Given the description of an element on the screen output the (x, y) to click on. 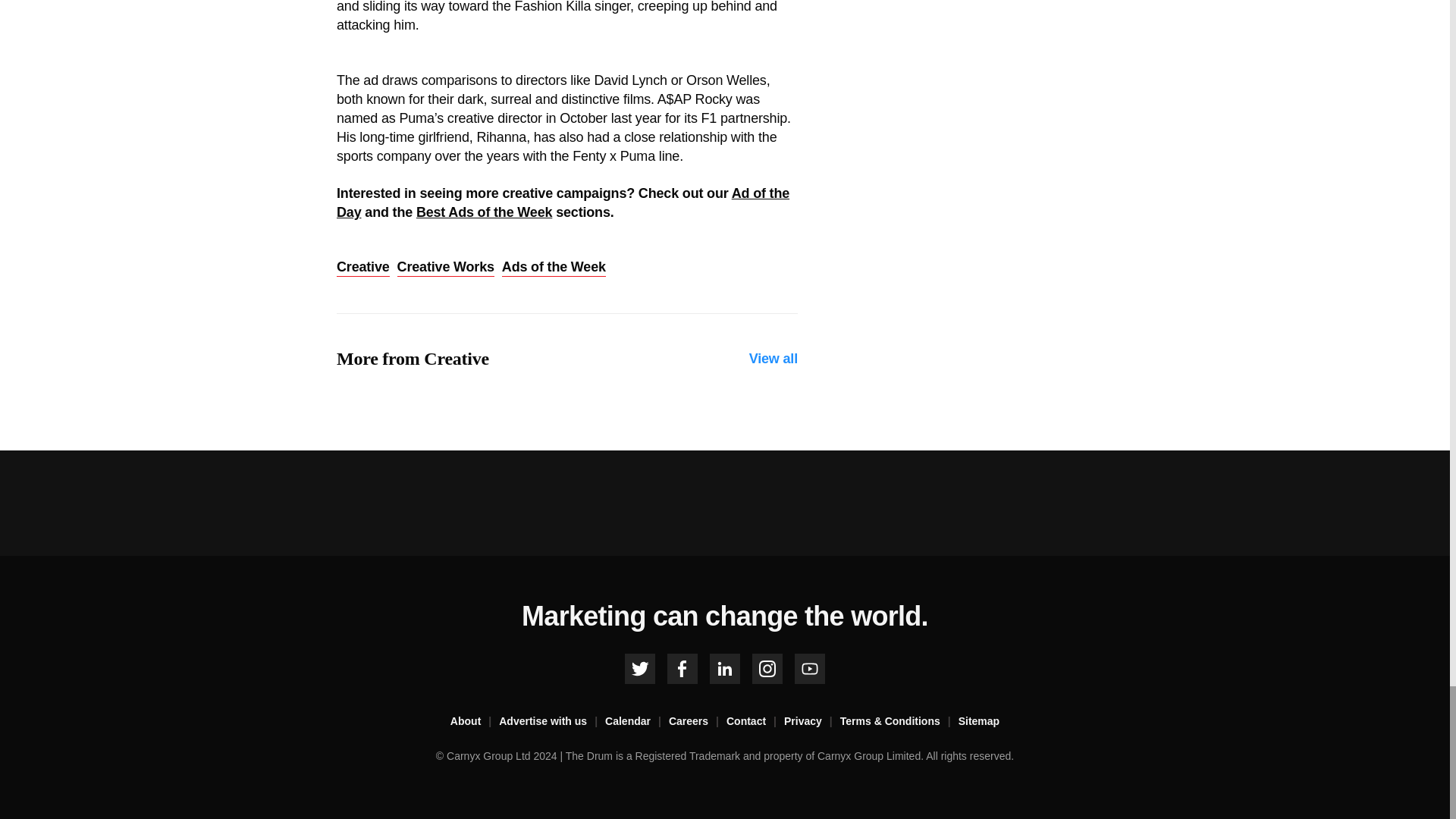
Ads of the Week (553, 267)
Best Ads of the Week (483, 212)
Creative (363, 267)
Creative Works (446, 267)
Ad of the Day (562, 202)
View all (773, 358)
